Given the description of an element on the screen output the (x, y) to click on. 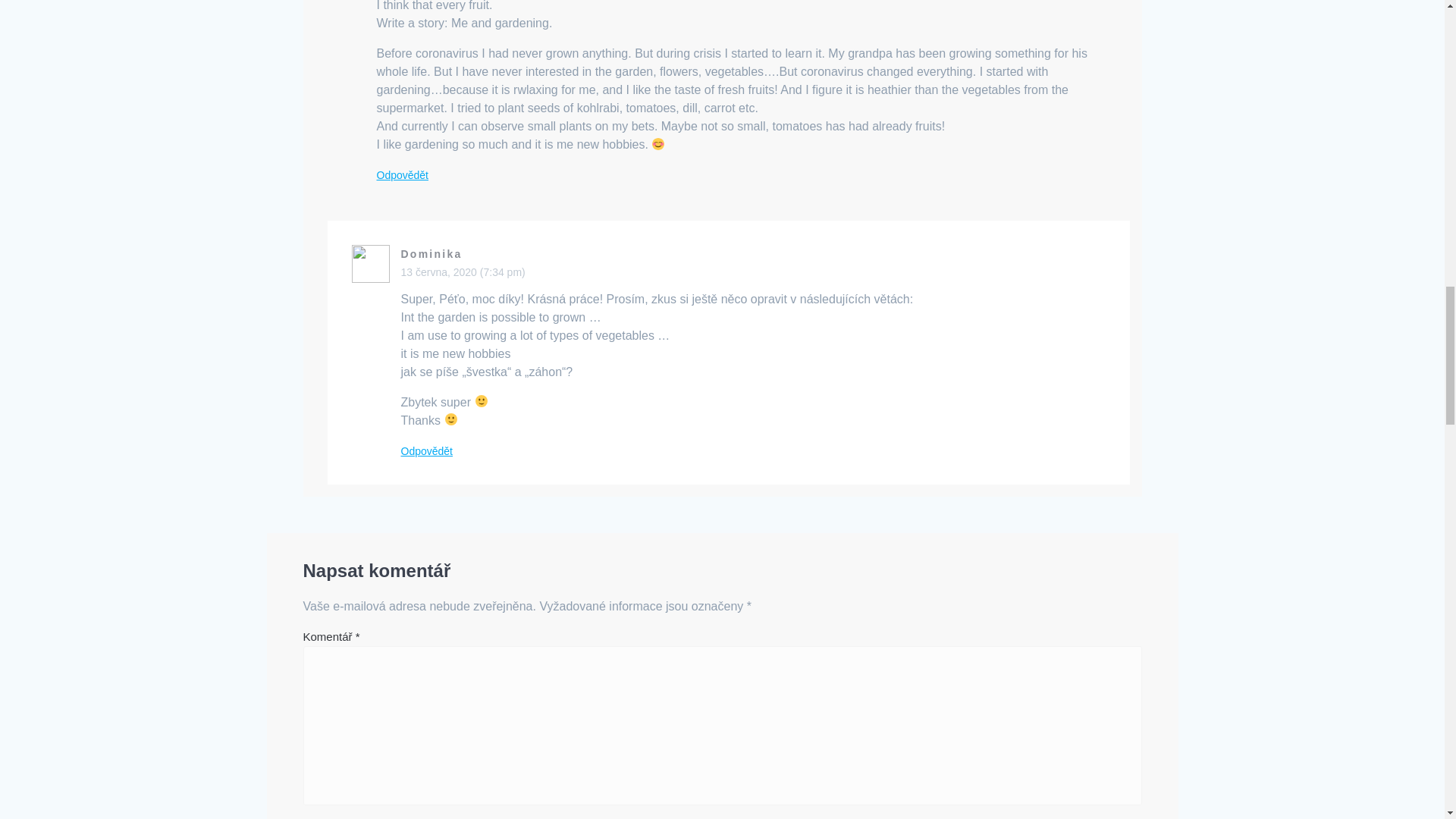
Dominika (430, 254)
